Given the description of an element on the screen output the (x, y) to click on. 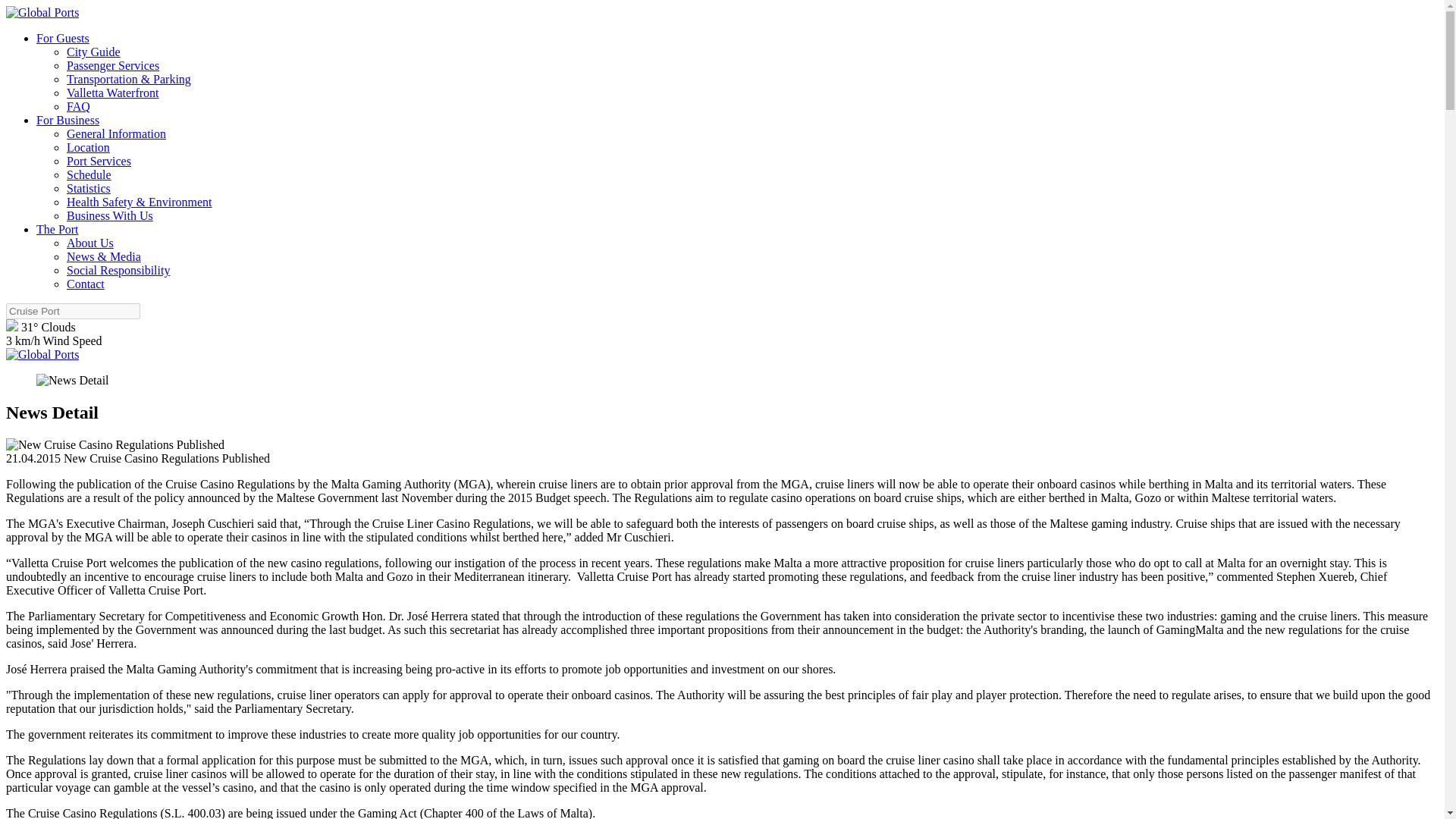
General Information (115, 133)
Business With Us (109, 215)
Social Responsibility (118, 269)
Passenger Services (112, 65)
For Guests (62, 38)
FAQ (78, 106)
The Port (57, 228)
Statistics (88, 187)
Contact (85, 283)
Location (88, 146)
